Given the description of an element on the screen output the (x, y) to click on. 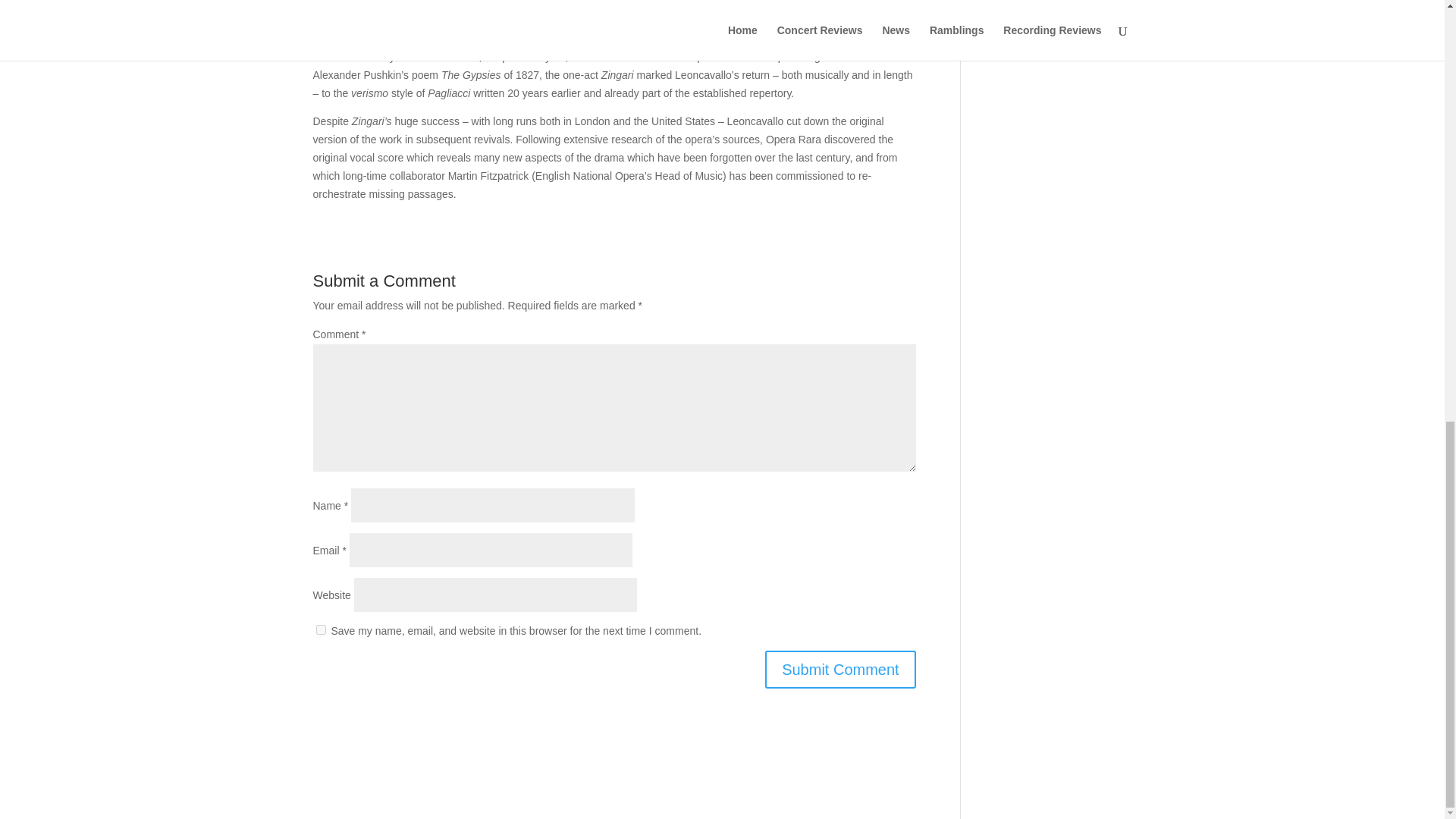
Submit Comment (840, 669)
Submit Comment (840, 669)
yes (319, 629)
